Given the description of an element on the screen output the (x, y) to click on. 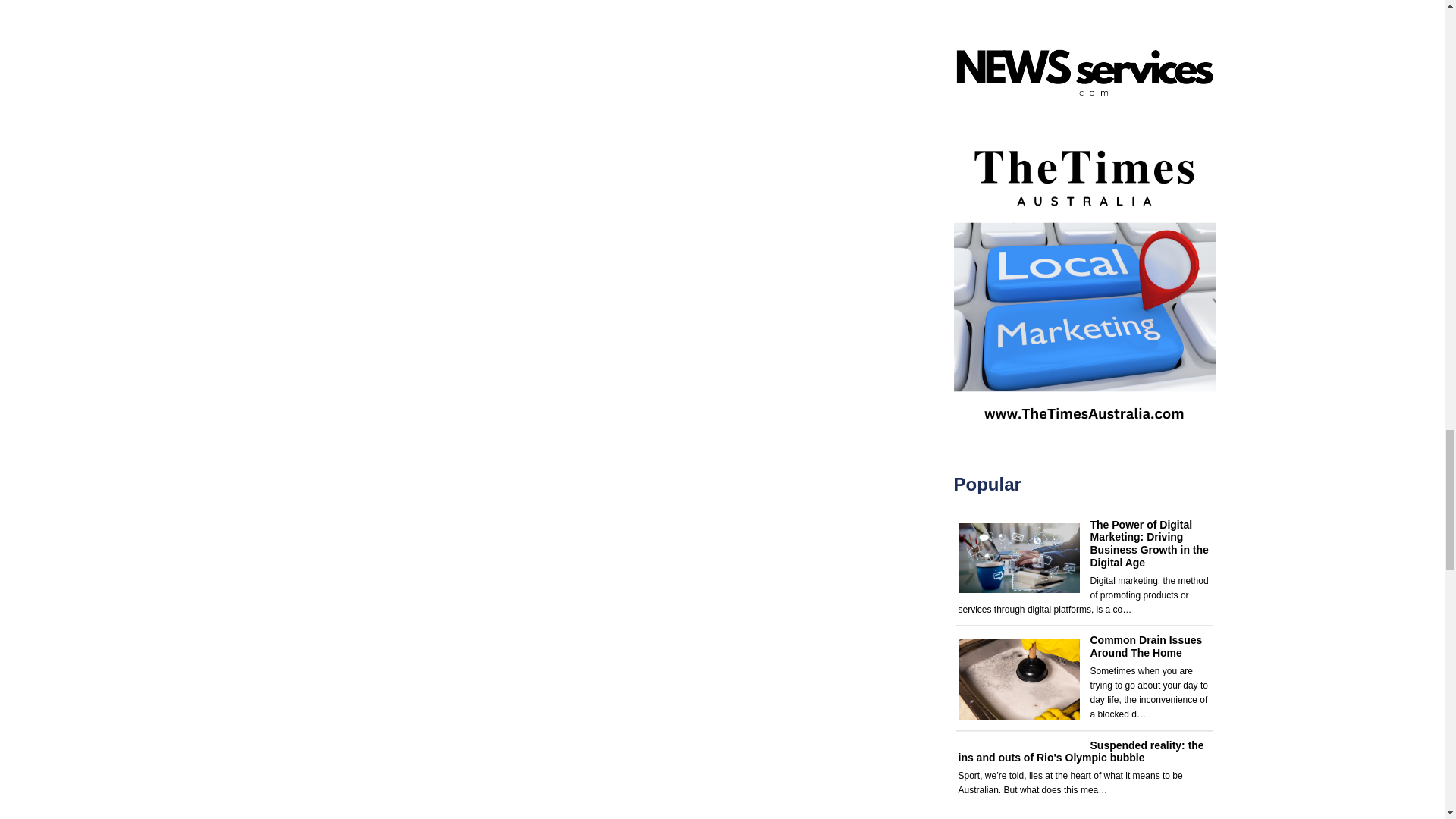
Suspended reality: the ins and outs of Rio's Olympic bubble (1081, 751)
Common Drain Issues Around The Home (1146, 646)
